Given the description of an element on the screen output the (x, y) to click on. 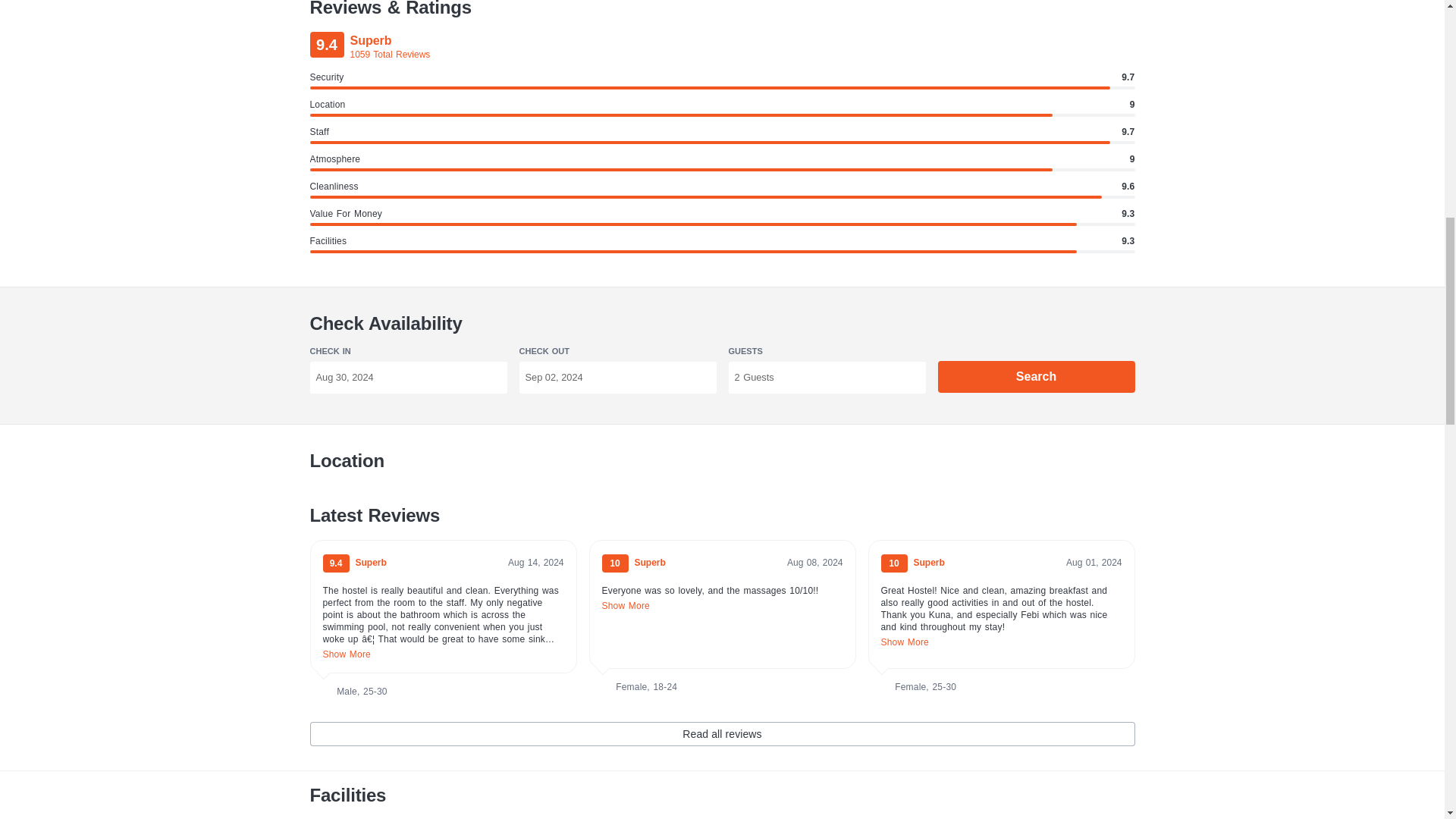
2 Guests (826, 377)
Sep 02, 2024 (617, 377)
Search (1035, 377)
Aug 30, 2024 (407, 377)
